Given the description of an element on the screen output the (x, y) to click on. 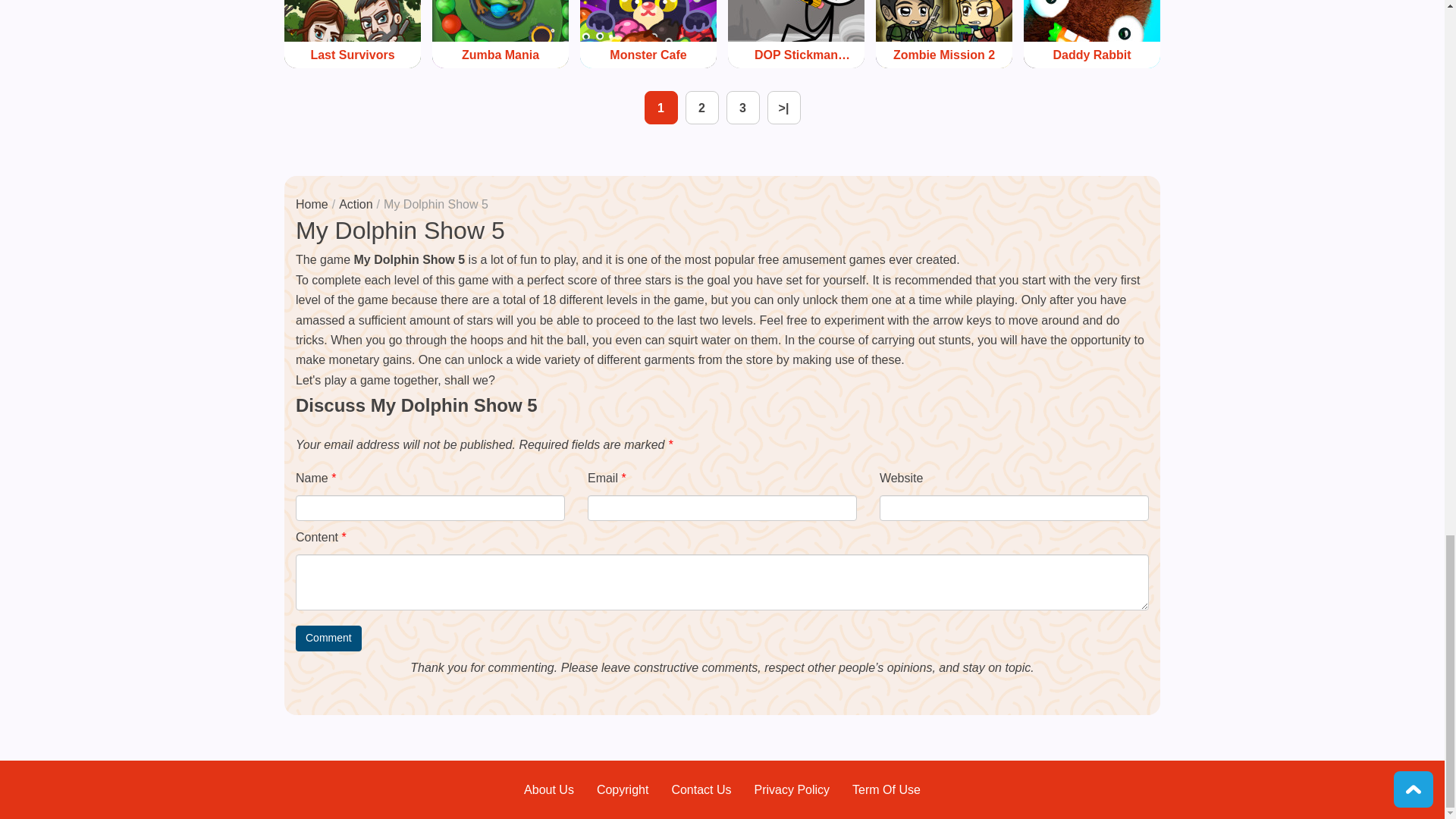
Comment (328, 638)
